Given the description of an element on the screen output the (x, y) to click on. 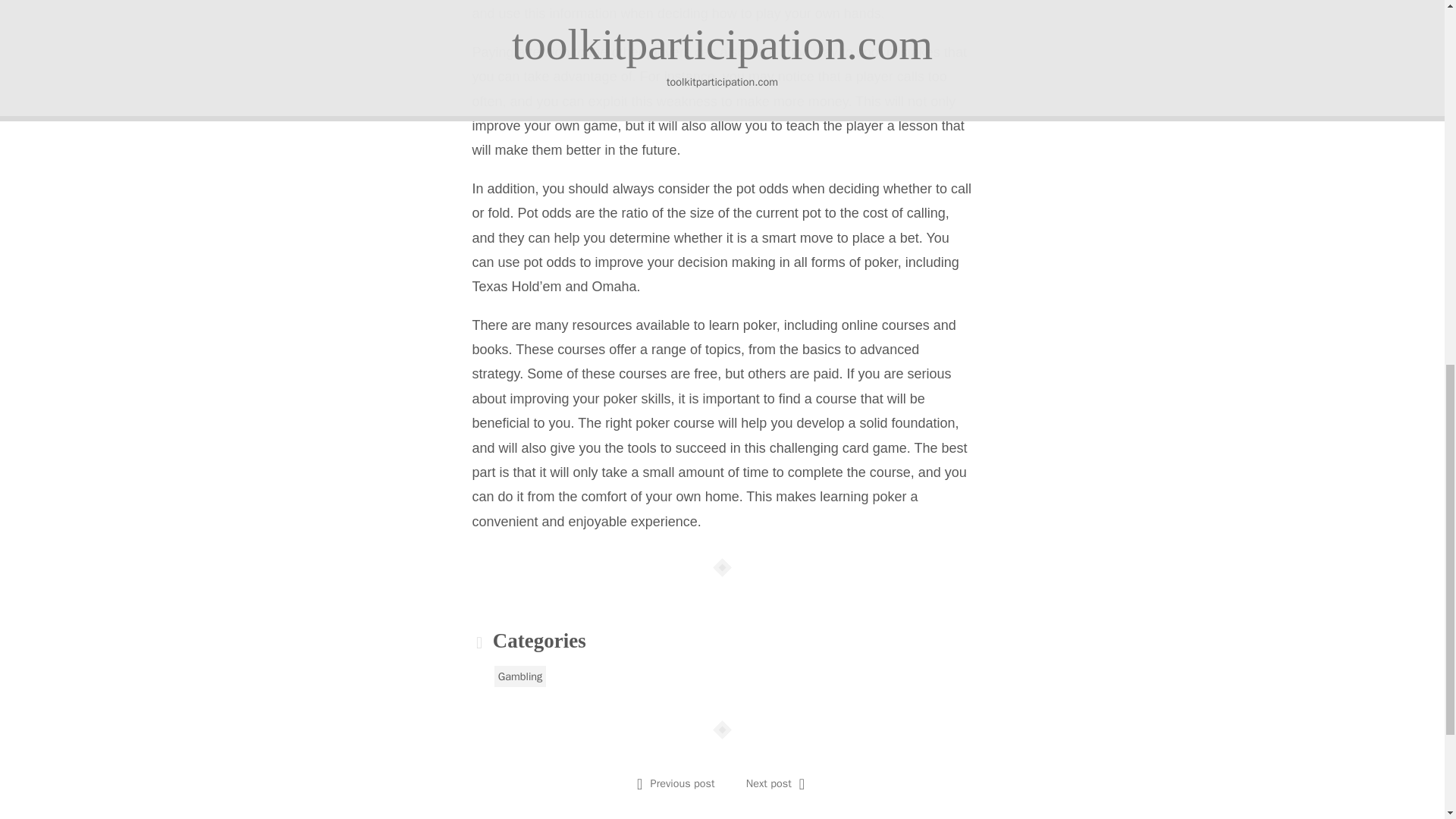
Previous post (682, 783)
Gambling (521, 676)
Next post (768, 783)
